Given the description of an element on the screen output the (x, y) to click on. 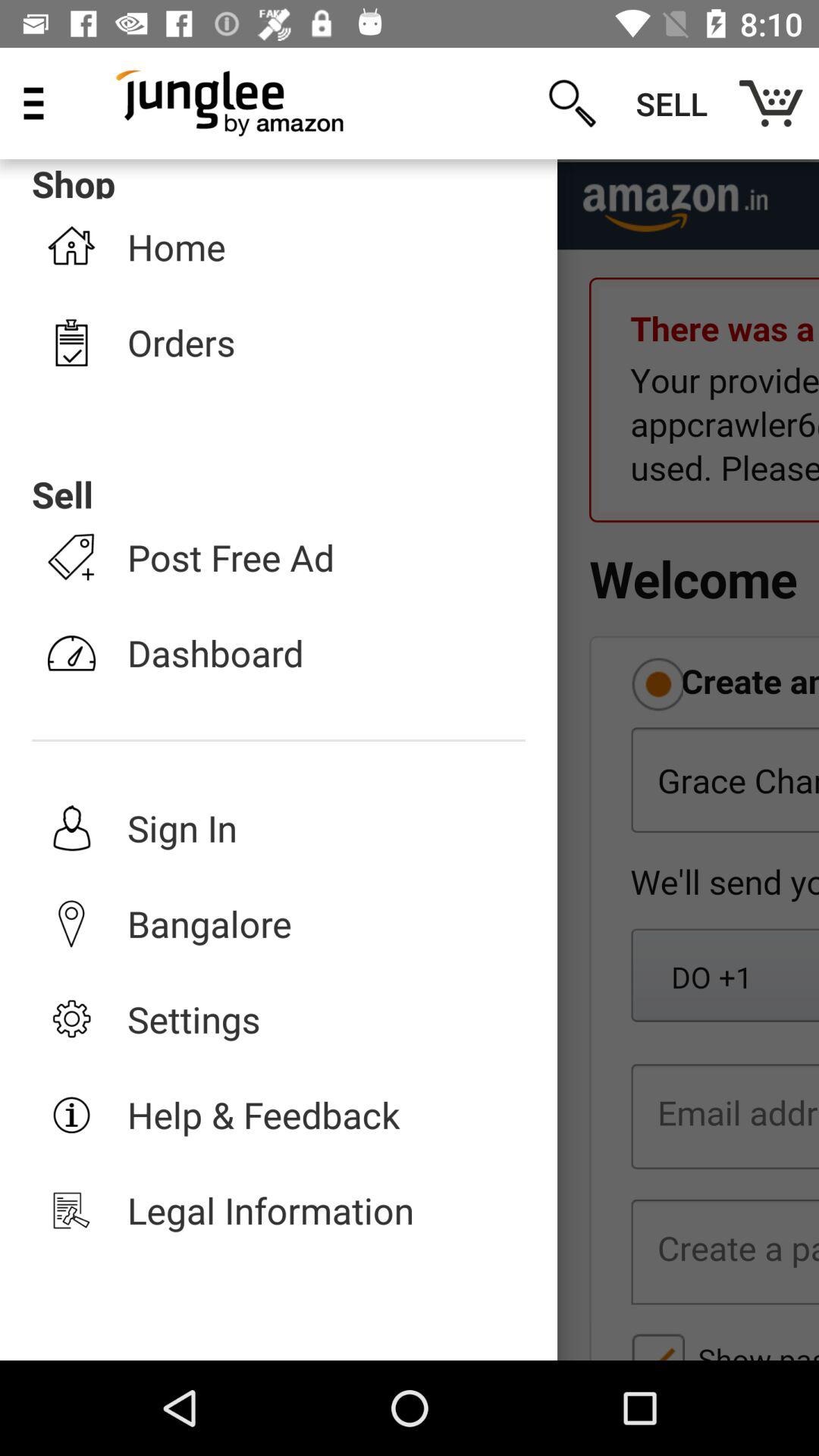
select the item to the left of sell icon (571, 103)
